Given the description of an element on the screen output the (x, y) to click on. 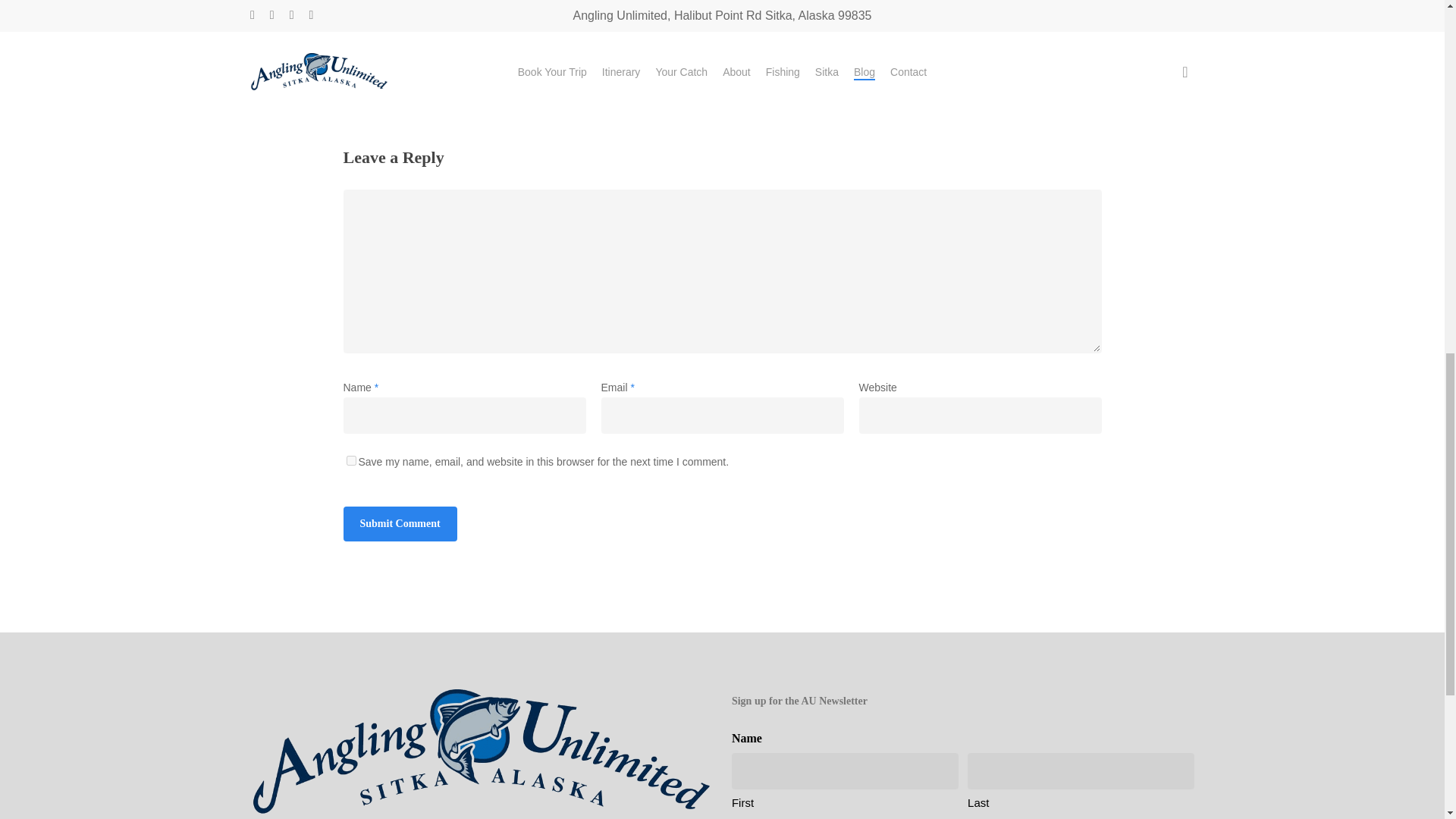
yes (350, 460)
Submit Comment (399, 523)
